Given the description of an element on the screen output the (x, y) to click on. 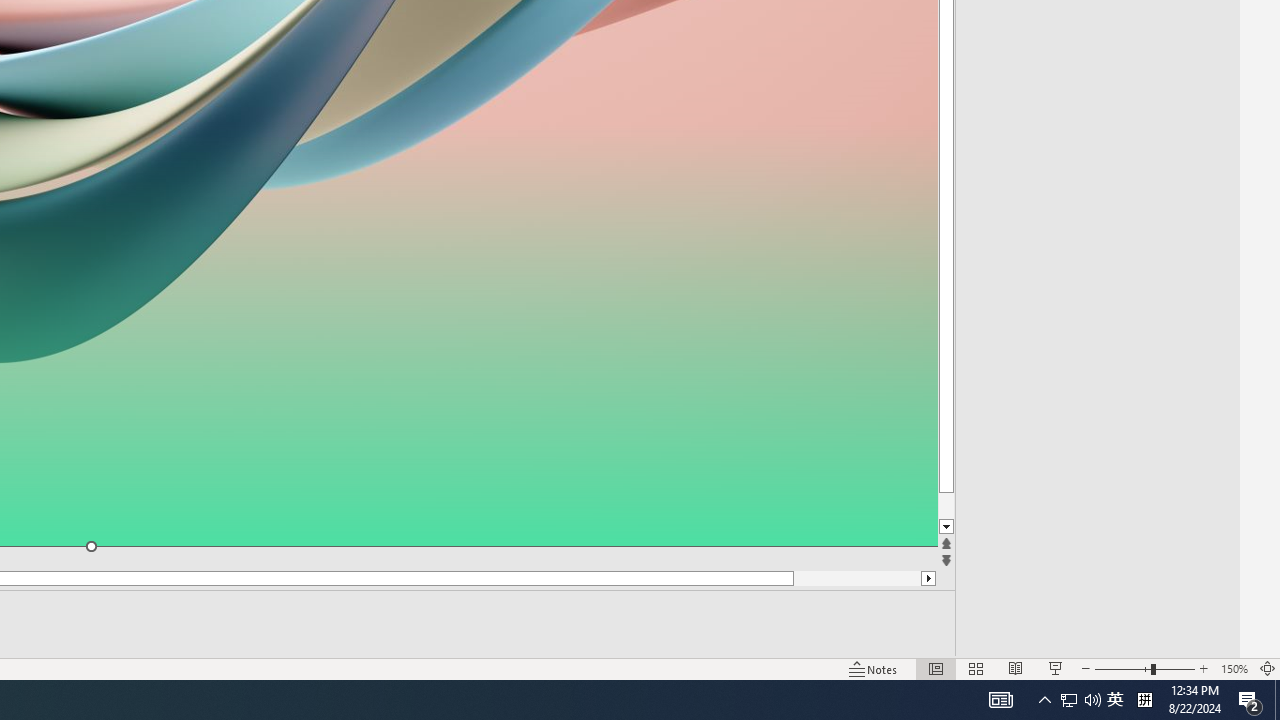
Notification Chevron (1115, 699)
Show desktop (1044, 699)
